Given the description of an element on the screen output the (x, y) to click on. 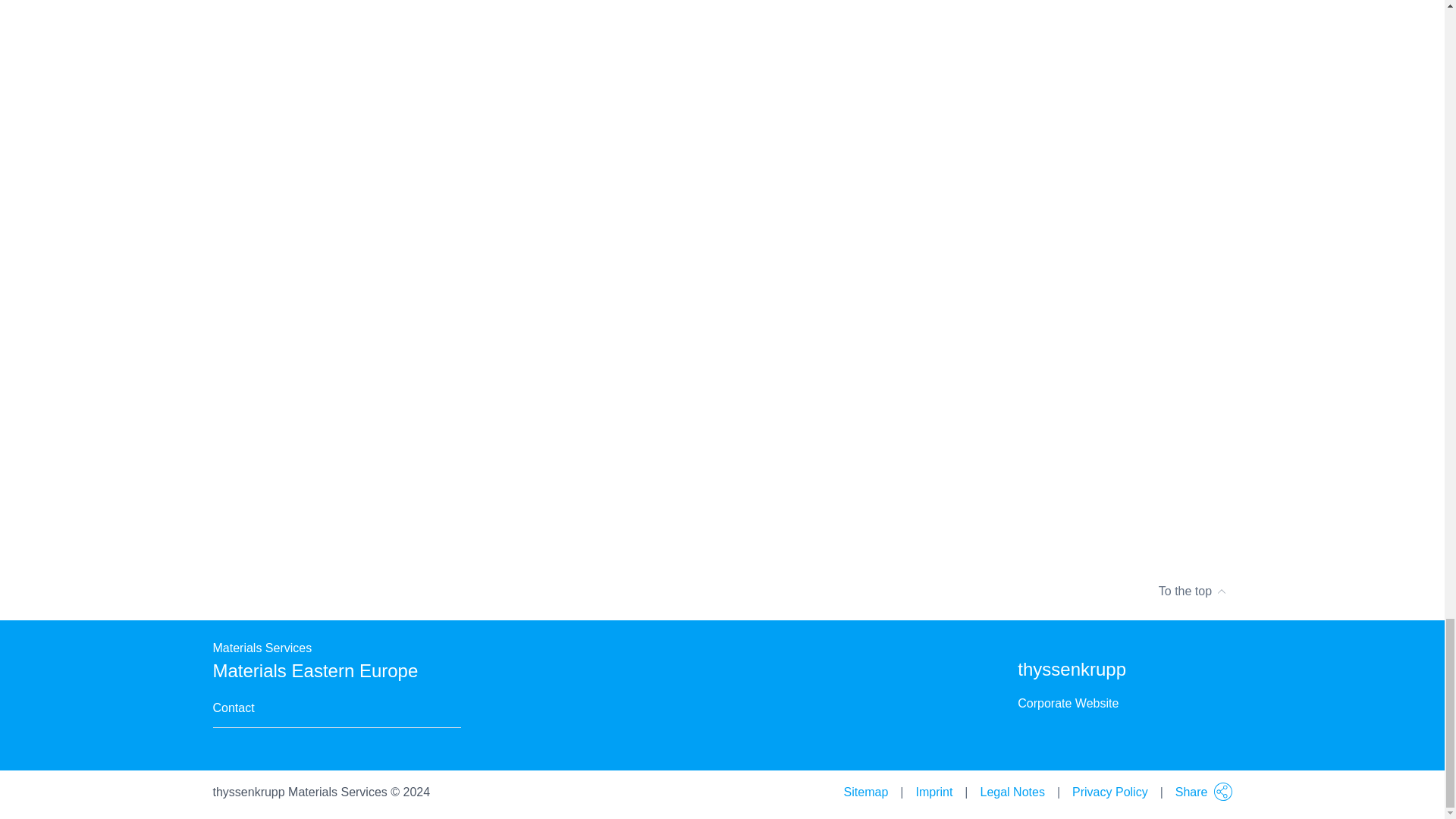
To the top arrow-up (721, 590)
arrow-up (1220, 591)
arrow-up (1220, 584)
tk-share (1221, 791)
